Given the description of an element on the screen output the (x, y) to click on. 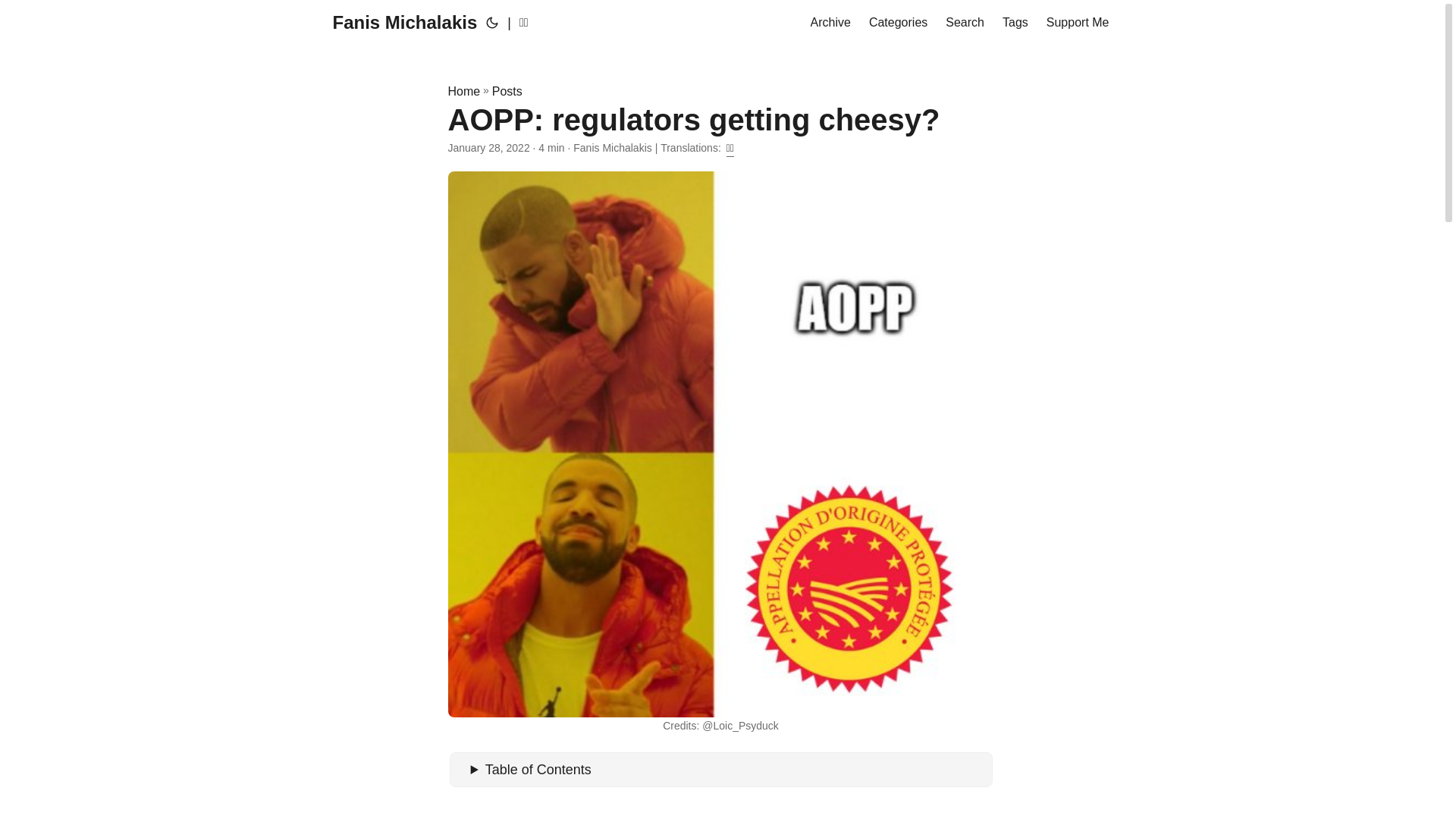
Categories (898, 22)
Posts (507, 91)
Fanis Michalakis (404, 22)
Support Me (1077, 22)
Support Me (1077, 22)
Categories (898, 22)
Home (463, 91)
